Given the description of an element on the screen output the (x, y) to click on. 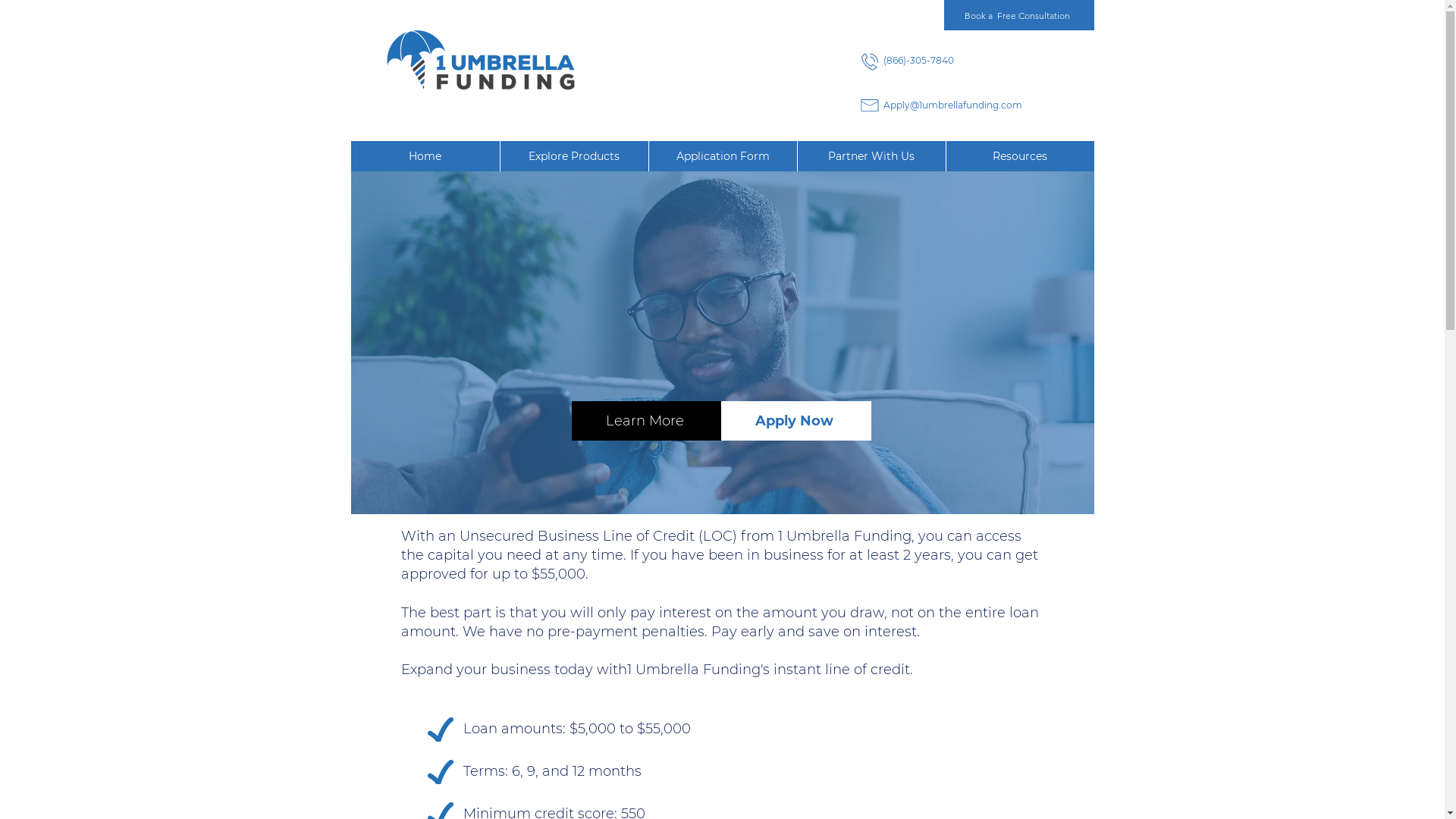
Book a  Free Consultation Element type: text (1018, 15)
Home Element type: text (424, 156)
Application Form Element type: text (721, 156)
Learn More Element type: text (646, 420)
Apply@1umbrellafunding.com Element type: text (951, 104)
Partner With Us Element type: text (870, 156)
Apply Now Element type: text (795, 420)
